Given the description of an element on the screen output the (x, y) to click on. 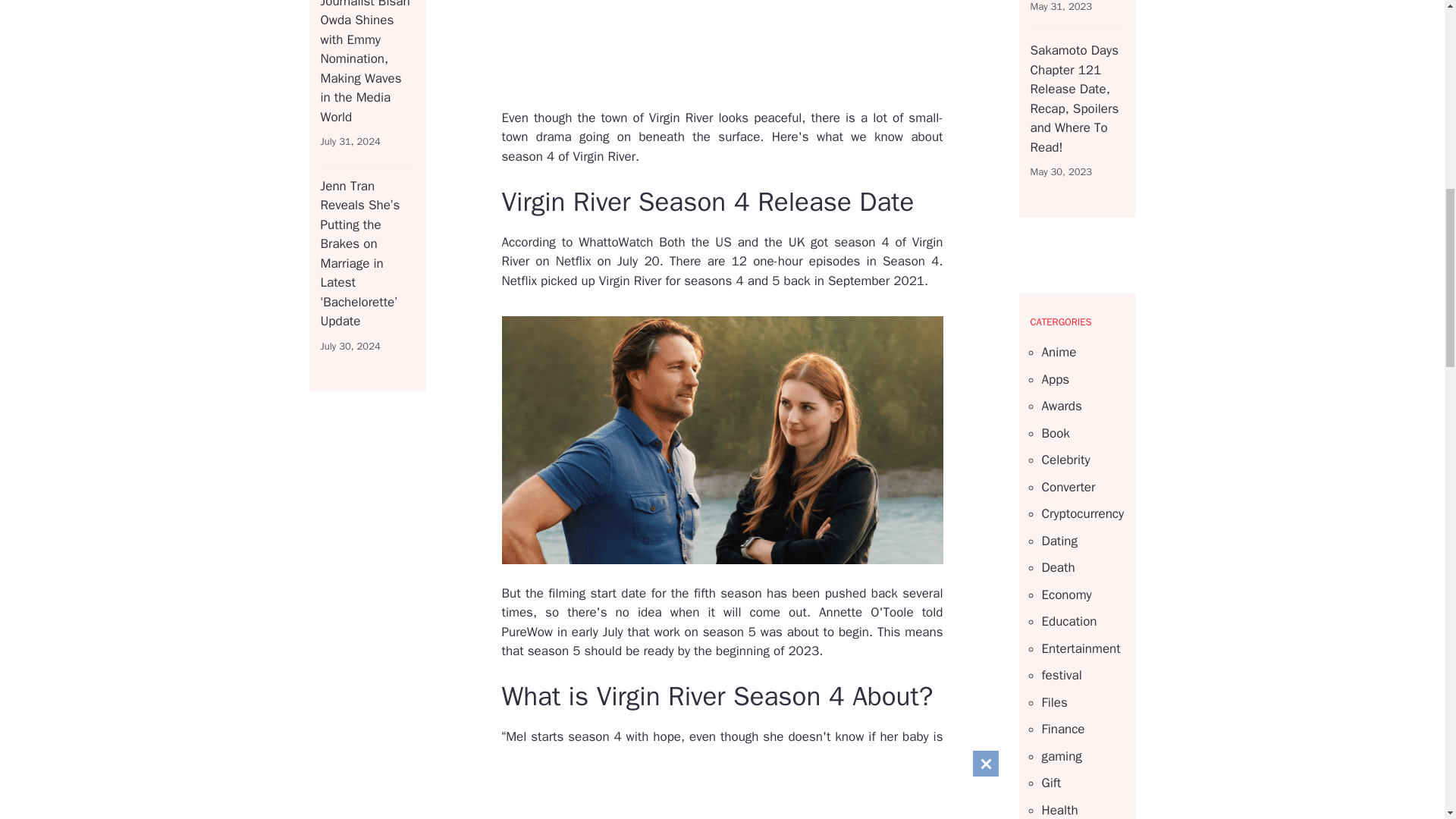
Advertisement (837, 51)
